Given the description of an element on the screen output the (x, y) to click on. 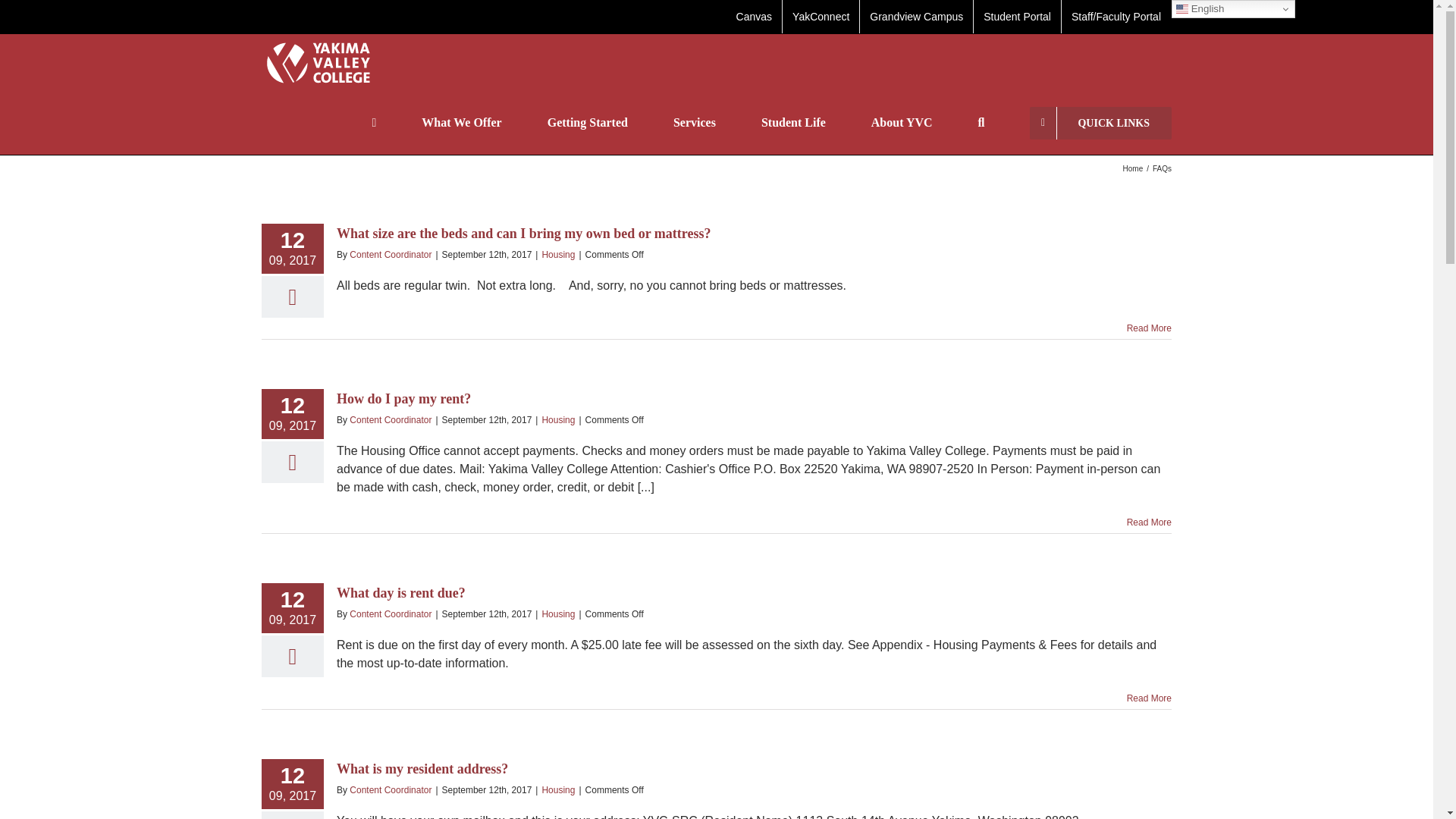
Grandview Campus (916, 16)
YakConnect (821, 16)
Canvas (753, 16)
Student Portal (1017, 16)
